Given the description of an element on the screen output the (x, y) to click on. 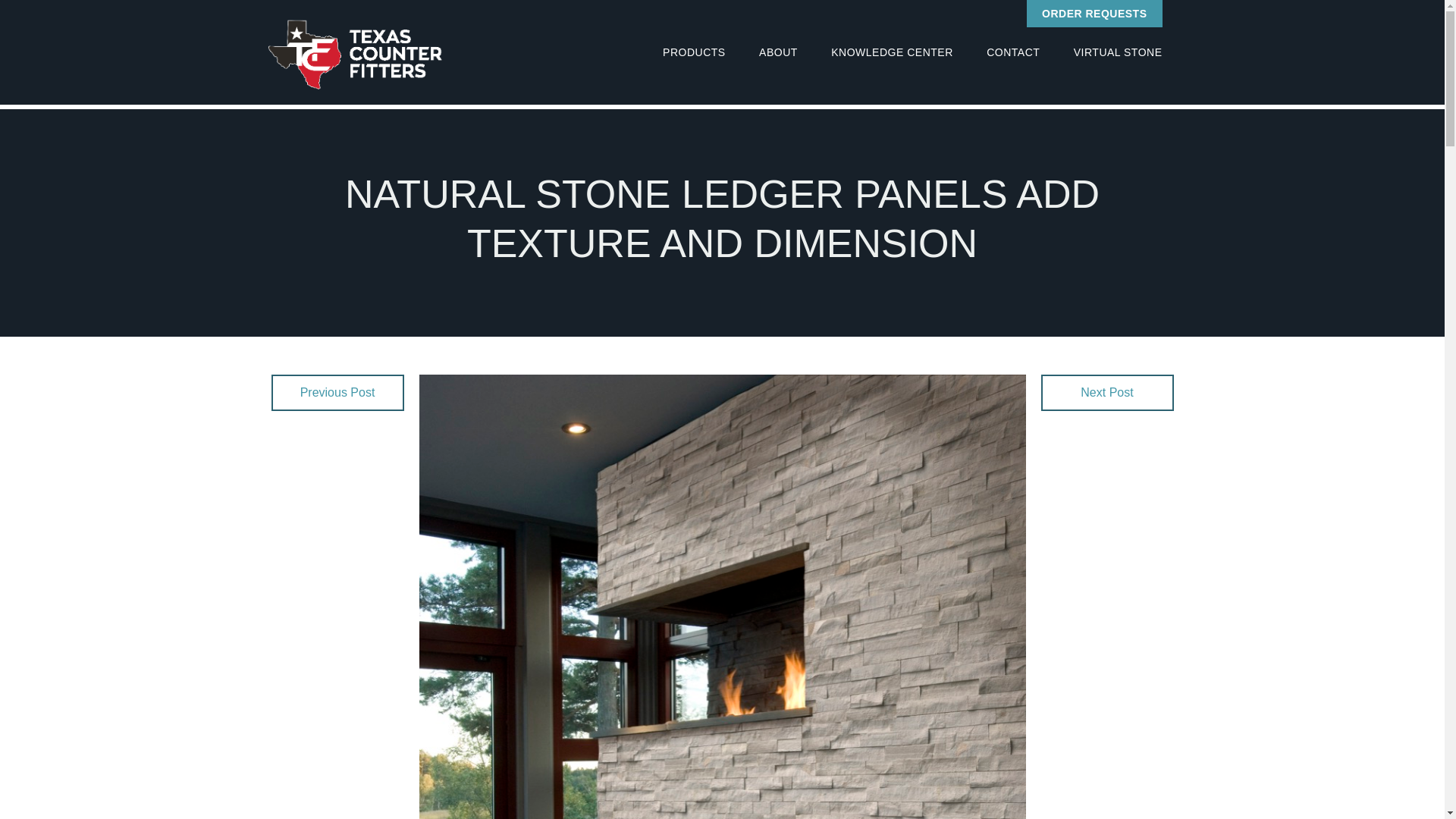
ABOUT (778, 51)
KNOWLEDGE CENTER (891, 51)
PRODUCTS (694, 51)
CONTACT (1012, 51)
Previous Post (337, 392)
Next Post (1107, 392)
ORDER REQUESTS (1093, 13)
VIRTUAL STONE (1117, 51)
